Given the description of an element on the screen output the (x, y) to click on. 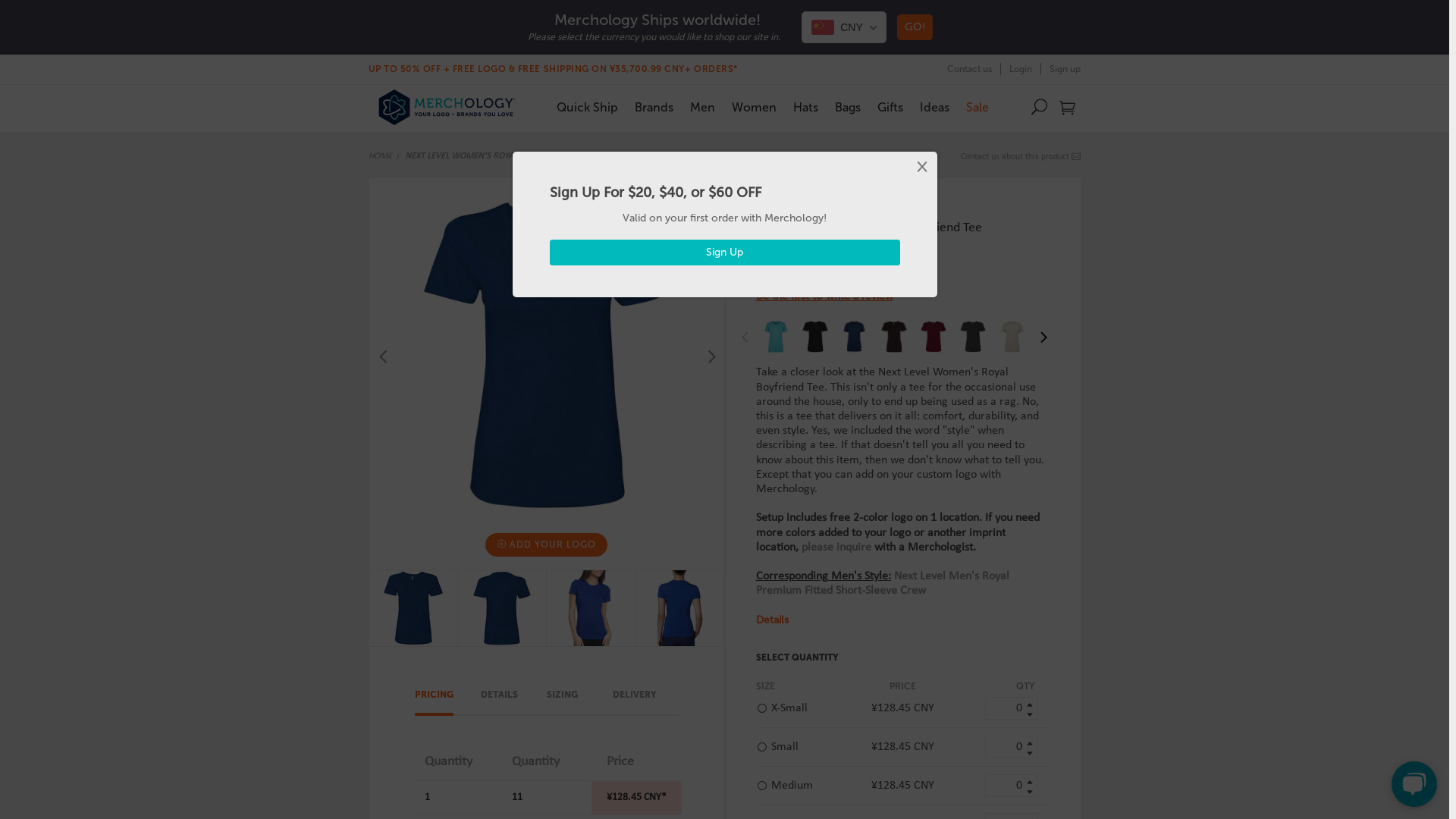
Contact us about this product Element type: text (1020, 156)
Login Element type: text (1020, 68)
Contact us Element type: text (969, 68)
Blue Element type: hover (854, 336)
DELIVERY Element type: text (634, 702)
Next Level Men's Royal Premium Fitted Short-Sleeve Crew Element type: text (881, 583)
PRICING Element type: text (433, 702)
Brown Element type: hover (894, 336)
Be the first to write a review Element type: text (823, 296)
please inquire Element type: text (835, 547)
Medium Element type: text (804, 785)
Baby Blue Element type: hover (775, 336)
Brands Element type: text (653, 107)
GO! Element type: text (914, 27)
Sign Up Element type: text (724, 252)
Bags Element type: text (847, 107)
Burgundy Element type: hover (933, 336)
NEXT LEVEL WOMEN'S ROYAL BOYFRIEND TEE Element type: text (491, 155)
Sign up Element type: text (1060, 68)
Gifts Element type: text (890, 107)
Black Element type: hover (815, 336)
DETAILS Element type: text (498, 702)
Men Element type: text (701, 107)
Cream Element type: hover (1012, 336)
Quick Ship Element type: text (586, 107)
Women Element type: text (753, 107)
HOME Element type: text (380, 155)
Sale Element type: text (976, 107)
X-Small Element type: text (804, 708)
Ideas Element type: text (934, 107)
Details Element type: text (771, 619)
Charcoal Element type: hover (972, 336)
Hats Element type: text (804, 107)
SIZING Element type: text (561, 702)
Small Element type: text (804, 746)
